Given the description of an element on the screen output the (x, y) to click on. 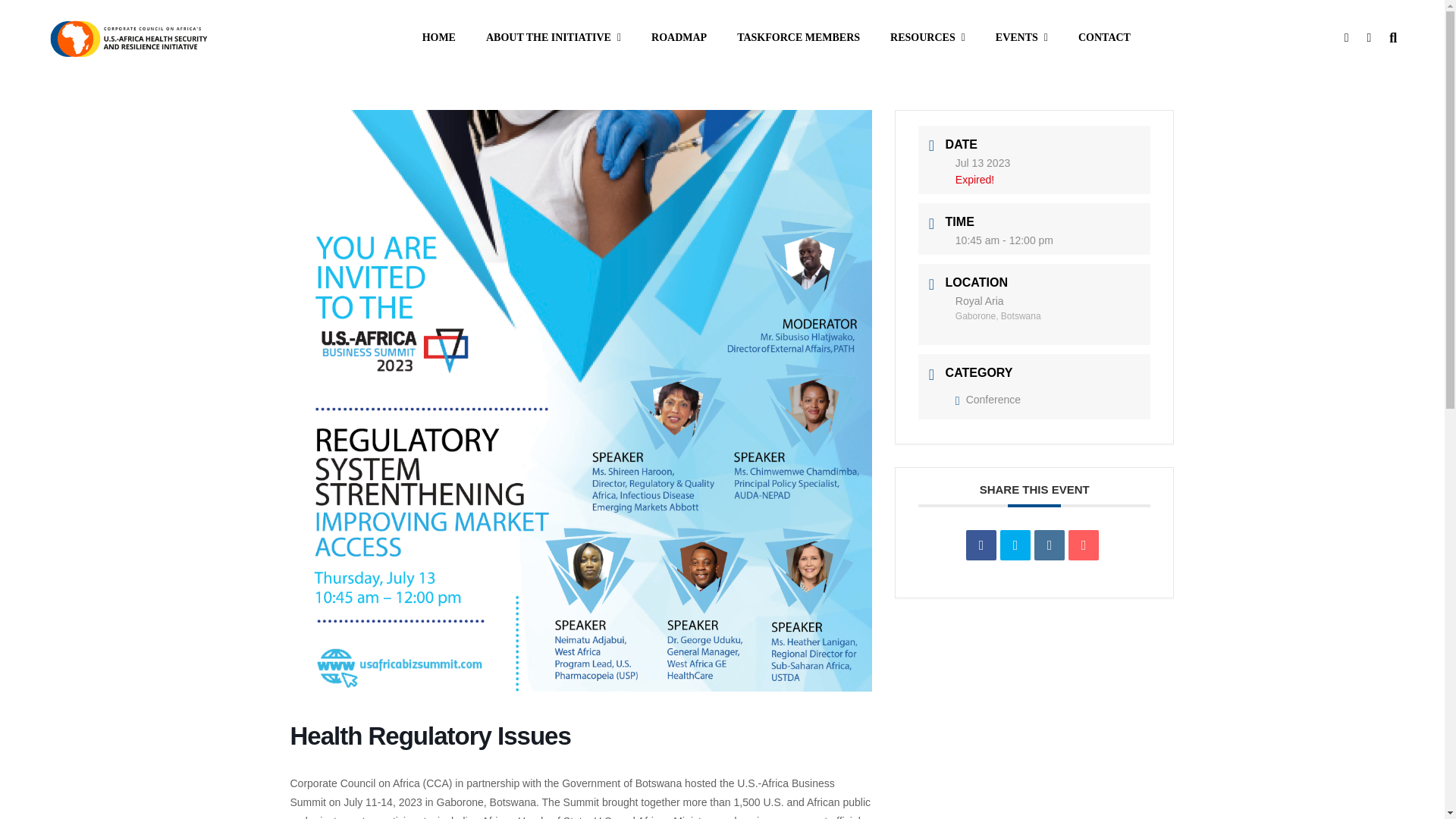
Tweet (1015, 544)
CCA Health Initiative- (128, 37)
TASKFORCE MEMBERS (798, 38)
Email (1083, 544)
Linkedin (1048, 544)
Share on Facebook (980, 544)
Conference (987, 399)
ABOUT THE INITIATIVE (553, 38)
RESOURCES (927, 38)
